Given the description of an element on the screen output the (x, y) to click on. 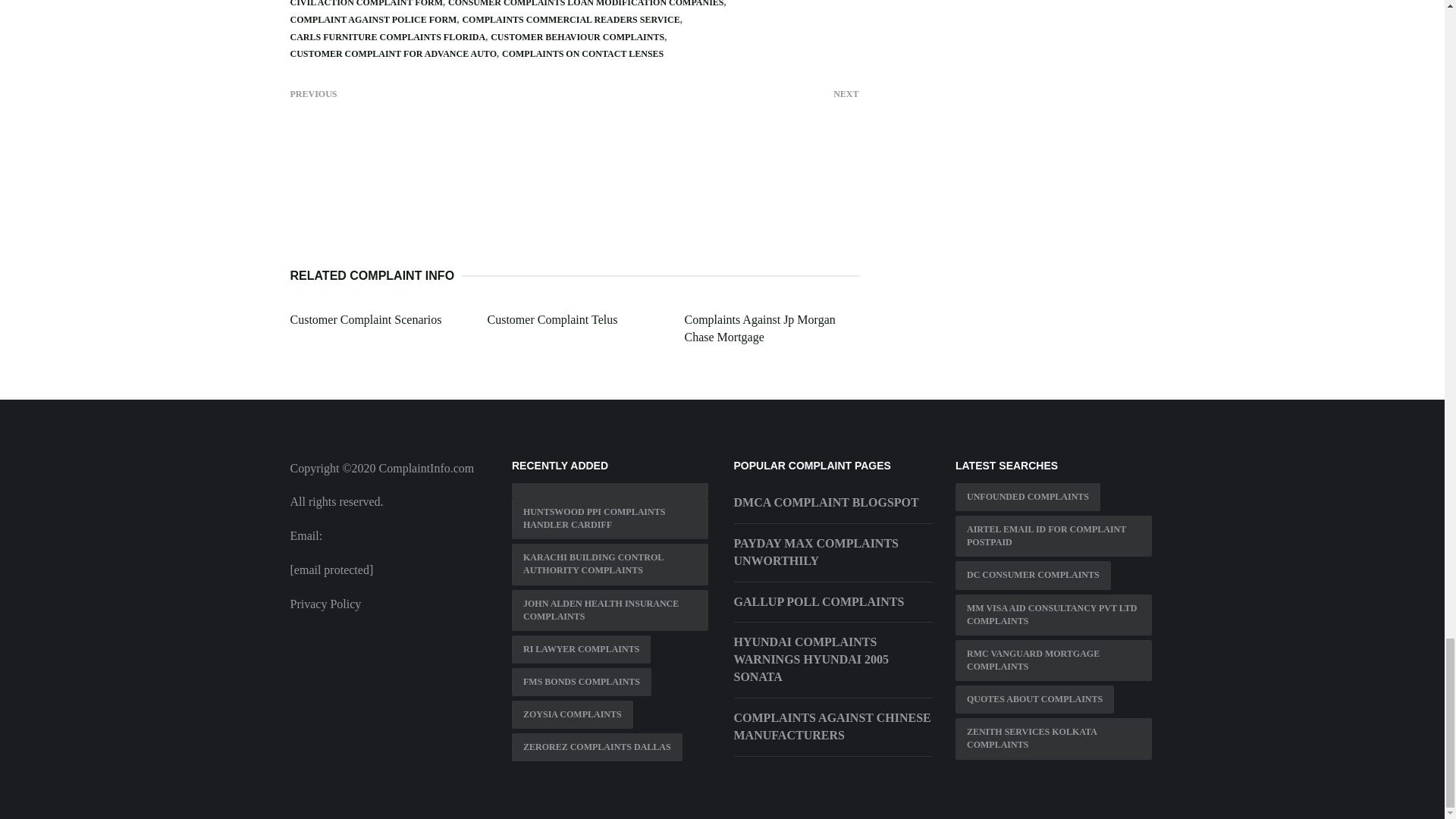
CONSUMER COMPLAINTS LOAN MODIFICATION COMPANIES (585, 3)
CARLS FURNITURE COMPLAINTS FLORIDA (386, 36)
COMPLAINTS COMMERCIAL READERS SERVICE (570, 19)
COMPLAINT AGAINST POLICE FORM (373, 19)
CUSTOMER BEHAVIOUR COMPLAINTS (576, 36)
CIVIL ACTION COMPLAINT FORM (365, 3)
